Given the description of an element on the screen output the (x, y) to click on. 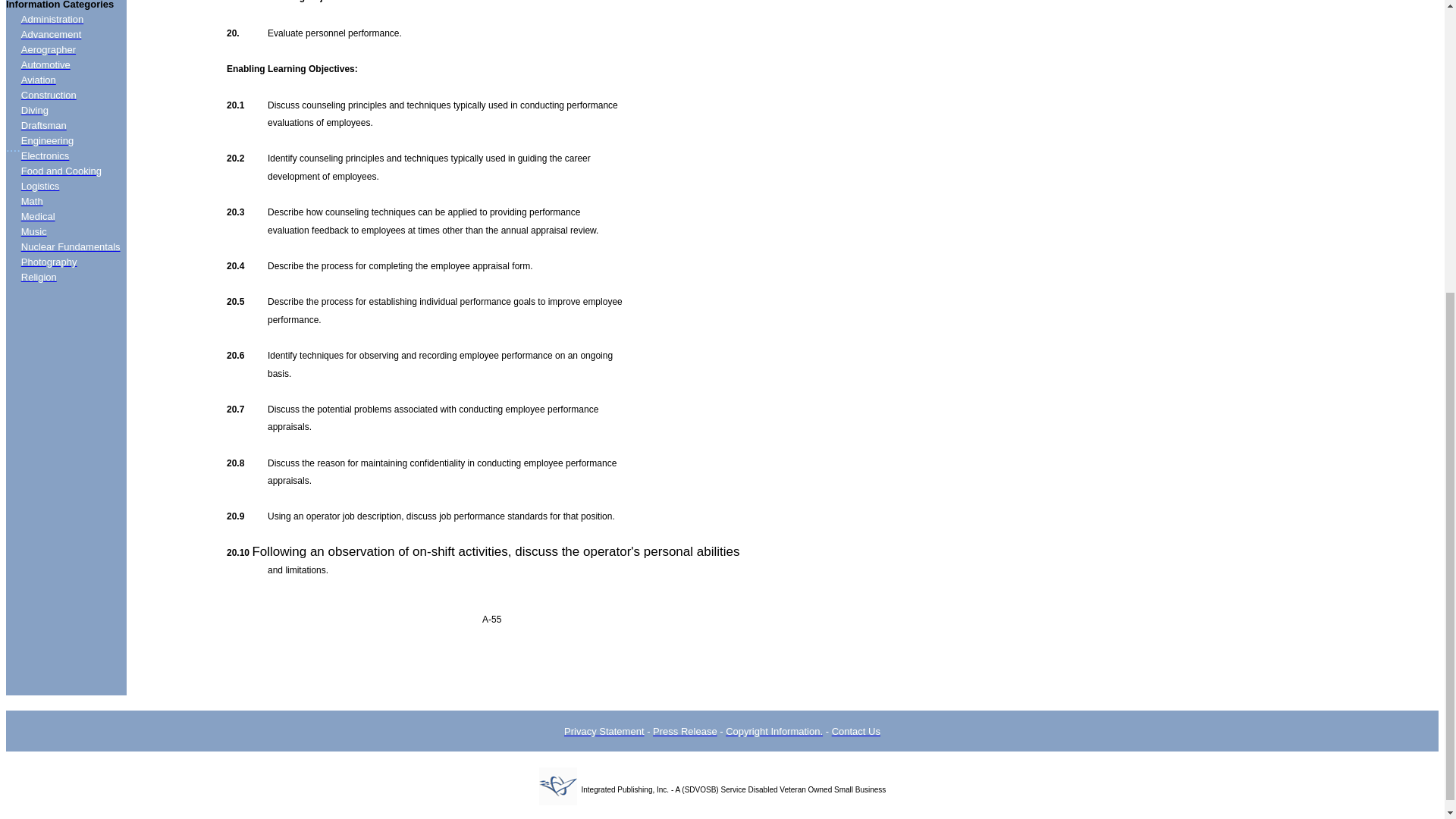
Religion (38, 276)
Medical (38, 215)
Engineering (47, 140)
Privacy Statement (604, 731)
Photography (49, 261)
Diving (34, 110)
Administration (51, 19)
Electronics (45, 155)
Nuclear Fundamentals (70, 246)
Construction (49, 94)
